Given the description of an element on the screen output the (x, y) to click on. 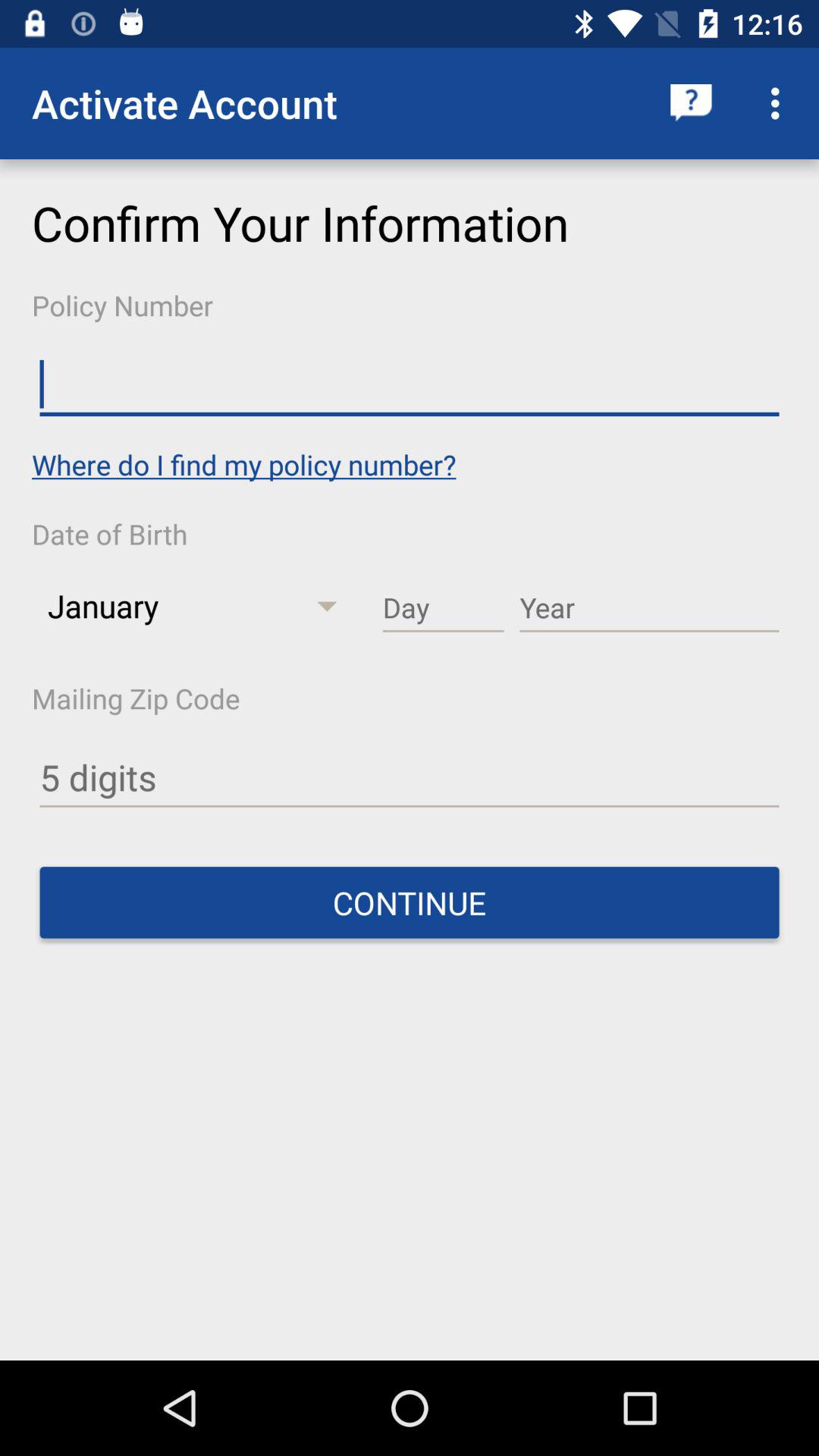
select the item above where do i item (409, 384)
